Given the description of an element on the screen output the (x, y) to click on. 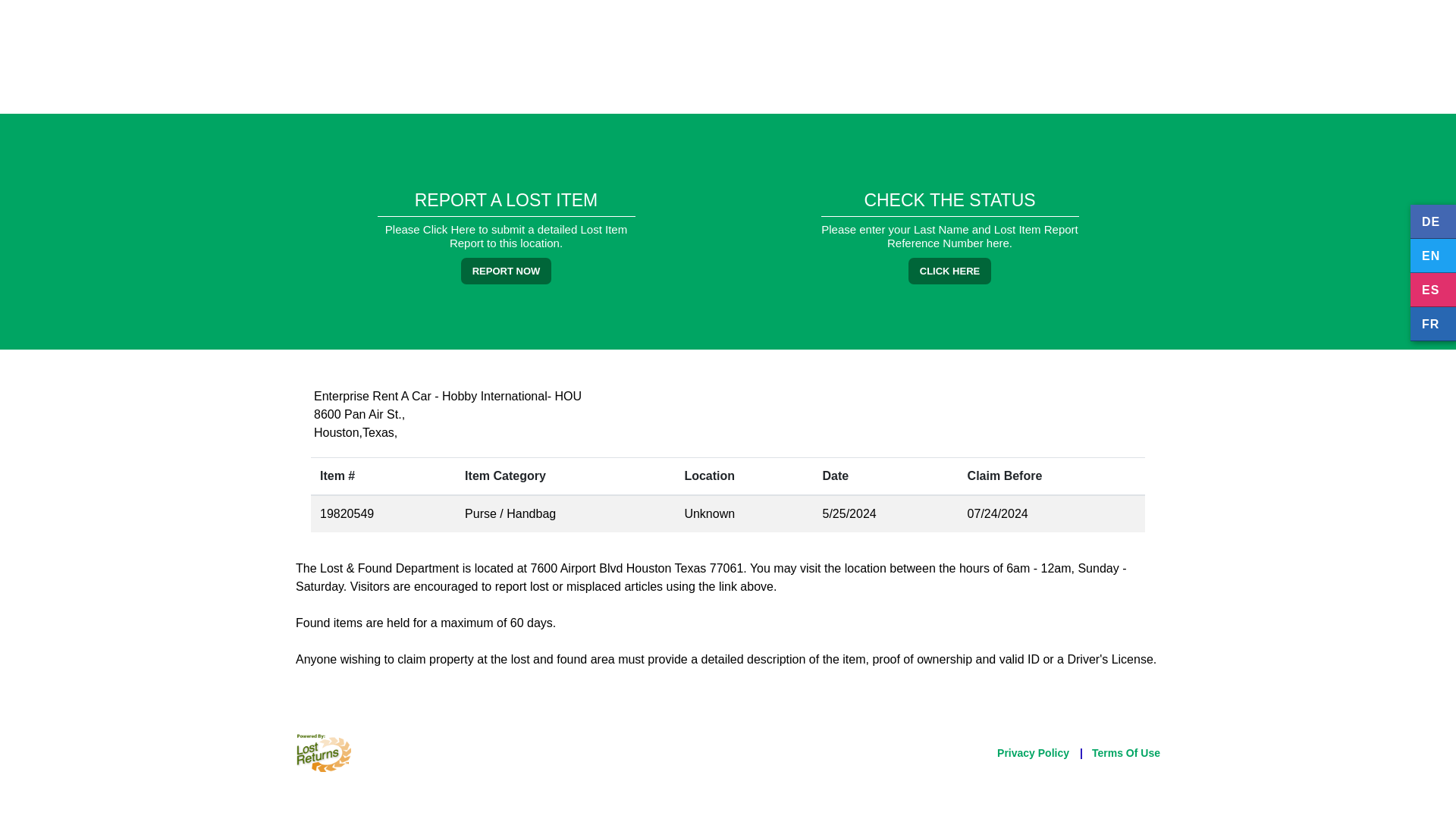
Privacy Policy (1032, 752)
CLICK HERE (949, 271)
REPORT NOW (506, 271)
Terms Of Use (1126, 752)
